Given the description of an element on the screen output the (x, y) to click on. 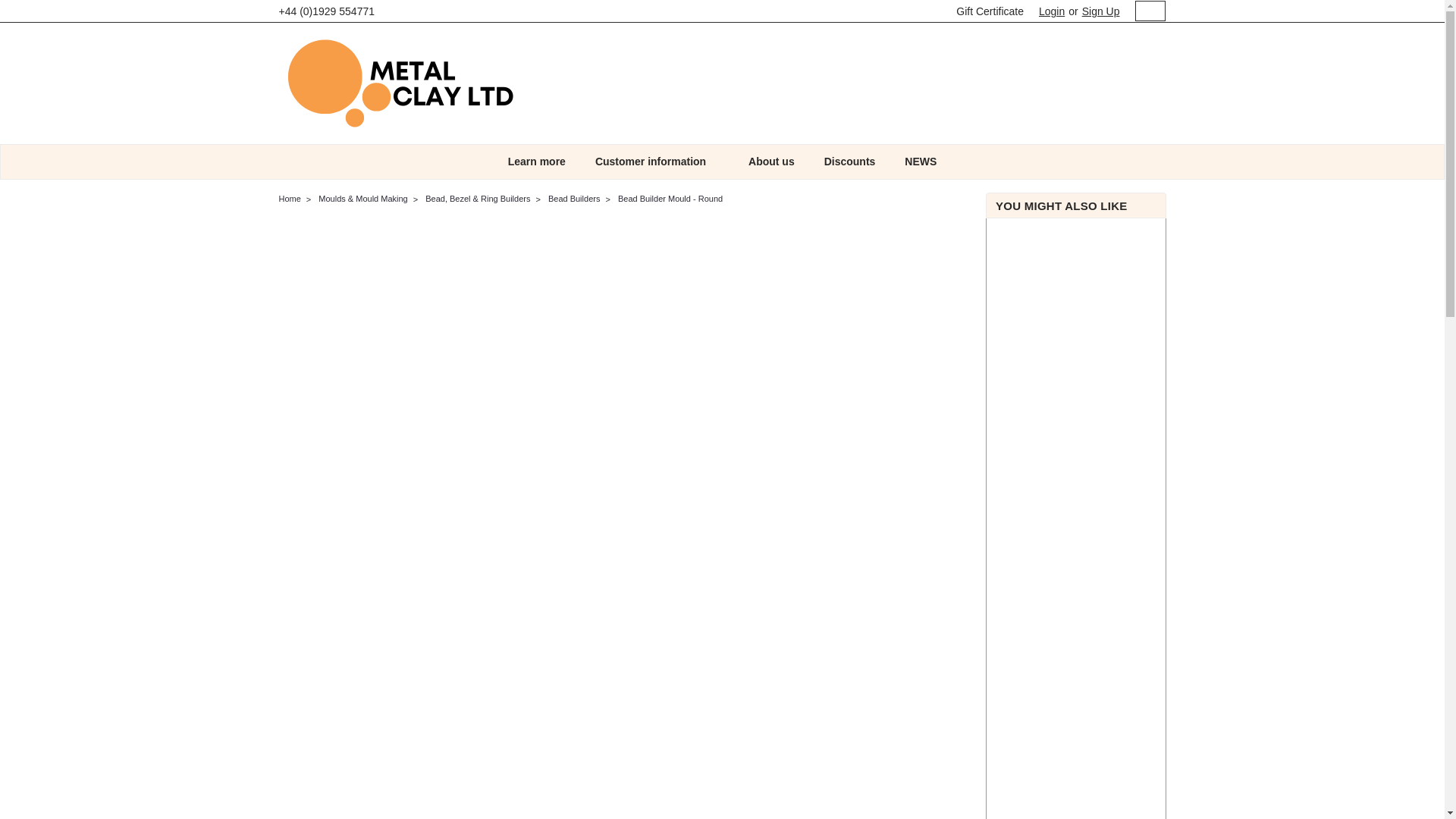
Metal Clay Ltd (400, 83)
Login (1051, 11)
Sign Up (1098, 11)
Gift Certificate (986, 11)
